Given the description of an element on the screen output the (x, y) to click on. 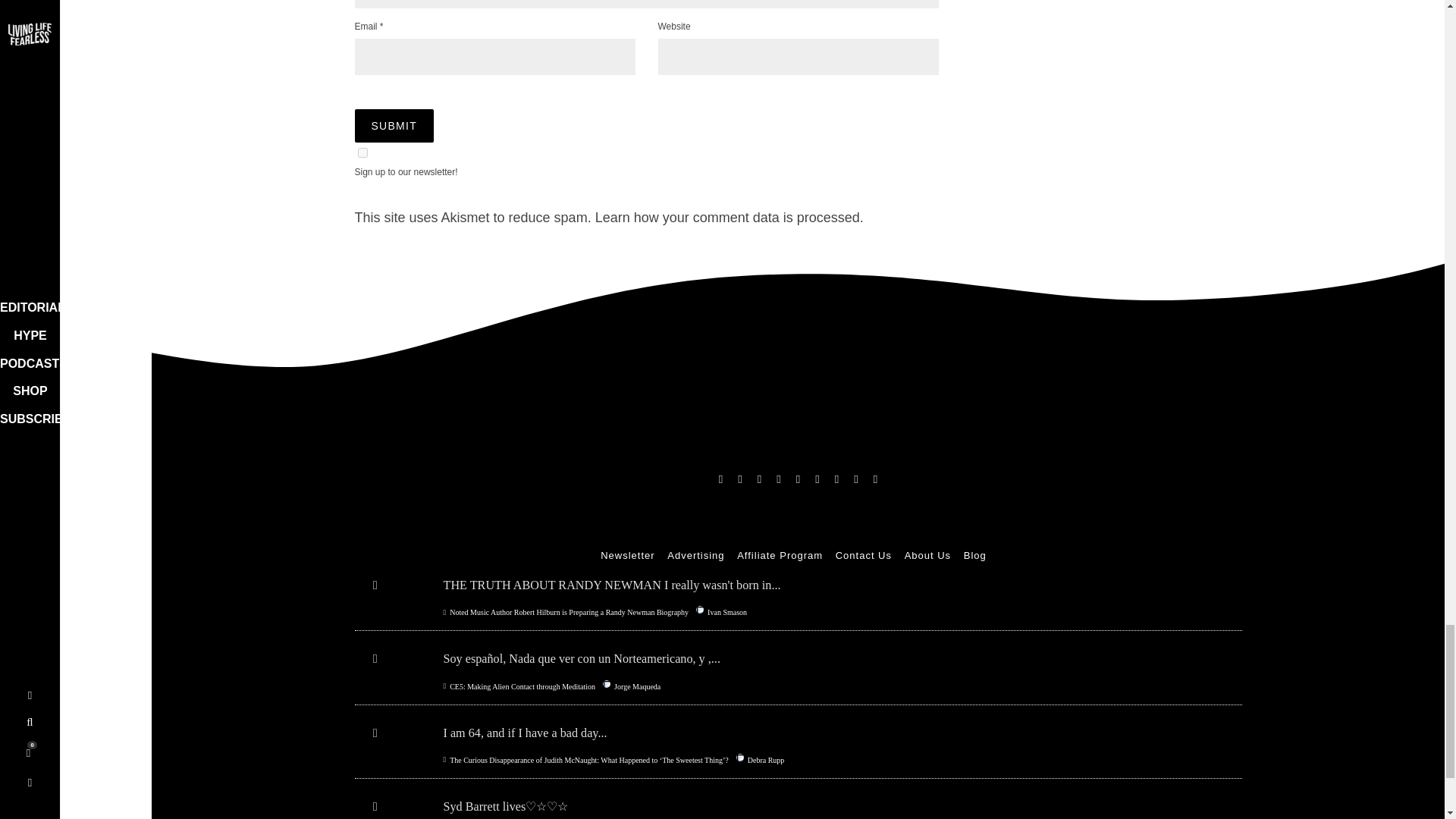
Submit (394, 125)
Contact Us (863, 555)
1 (363, 153)
